Given the description of an element on the screen output the (x, y) to click on. 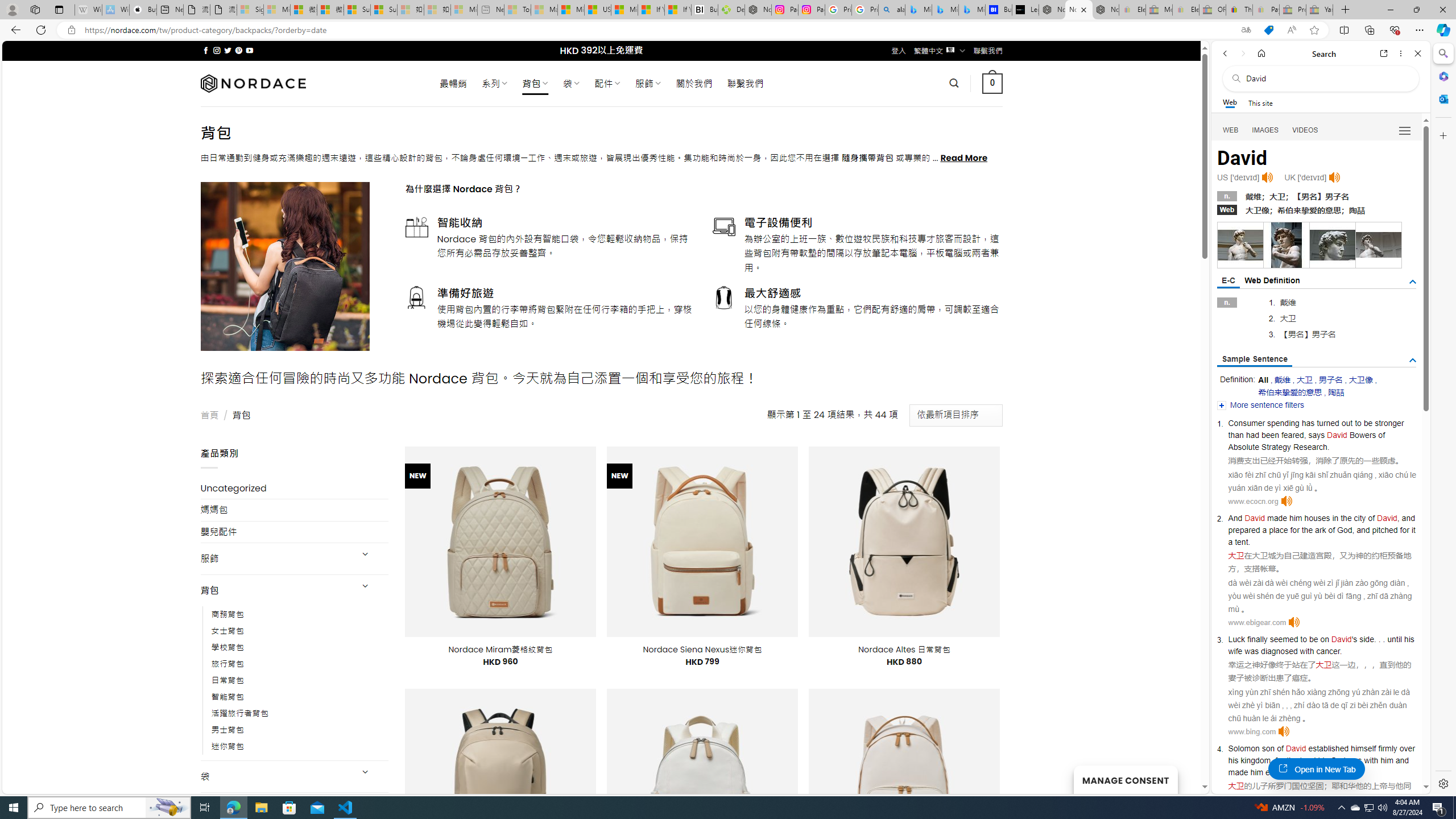
Payments Terms of Use | eBay.com - Sleeping (1265, 9)
out (1346, 422)
Sign in to your Microsoft account - Sleeping (249, 9)
of (1280, 747)
 0  (992, 83)
Open link in new tab (1383, 53)
